Given the description of an element on the screen output the (x, y) to click on. 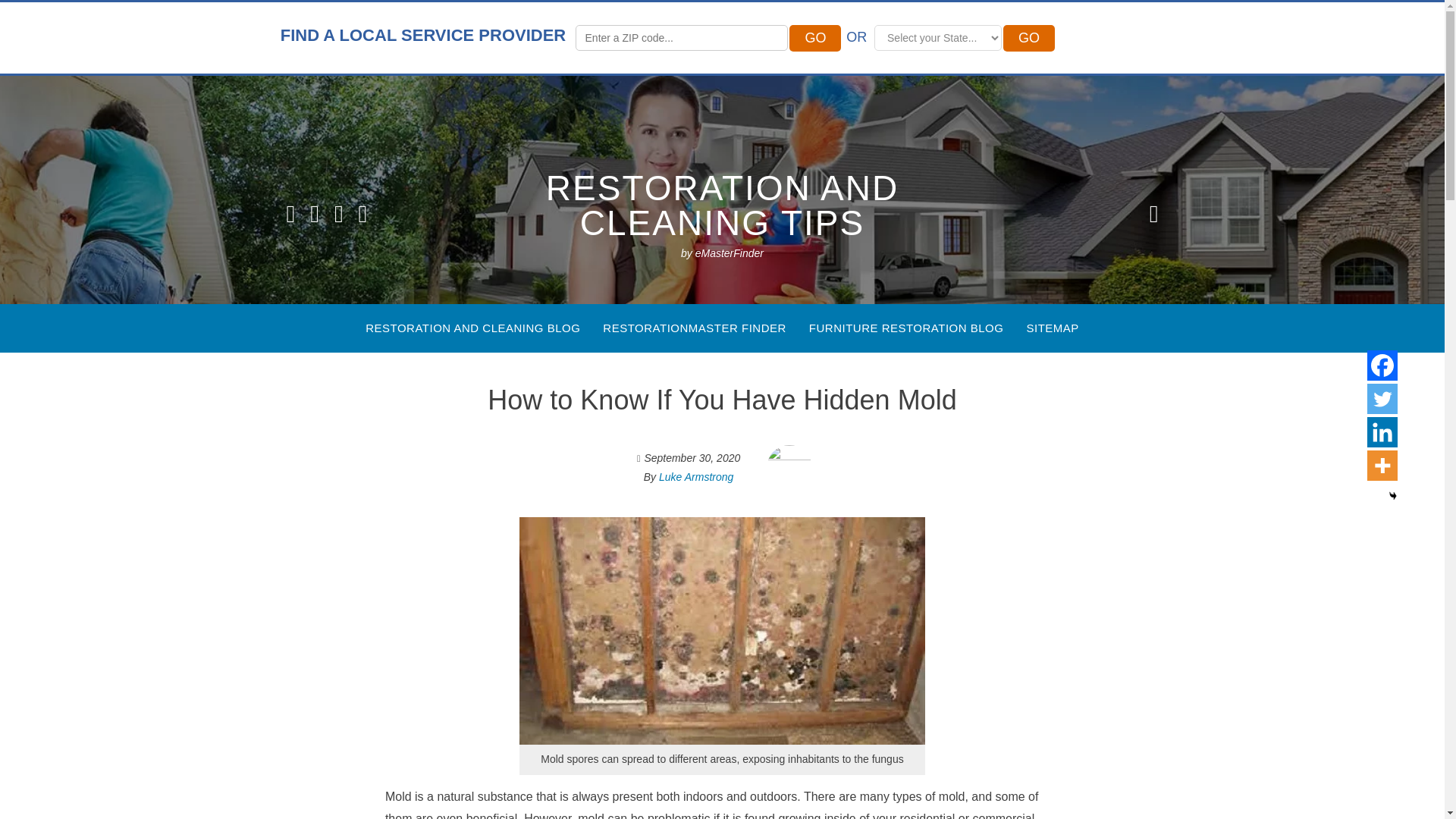
GO (815, 38)
Facebook (1382, 365)
GO (1028, 38)
RESTORATION AND CLEANING TIPS (722, 205)
FURNITURE RESTORATION BLOG (906, 328)
Hide (1393, 495)
by eMasterFinder (721, 253)
Luke Armstrong (696, 476)
GO (1028, 38)
SITEMAP (1052, 328)
hidden mold inside a wall (721, 630)
GO (815, 38)
View posts by  (696, 476)
RESTORATION AND CLEANING BLOG (472, 328)
More (1382, 465)
